Given the description of an element on the screen output the (x, y) to click on. 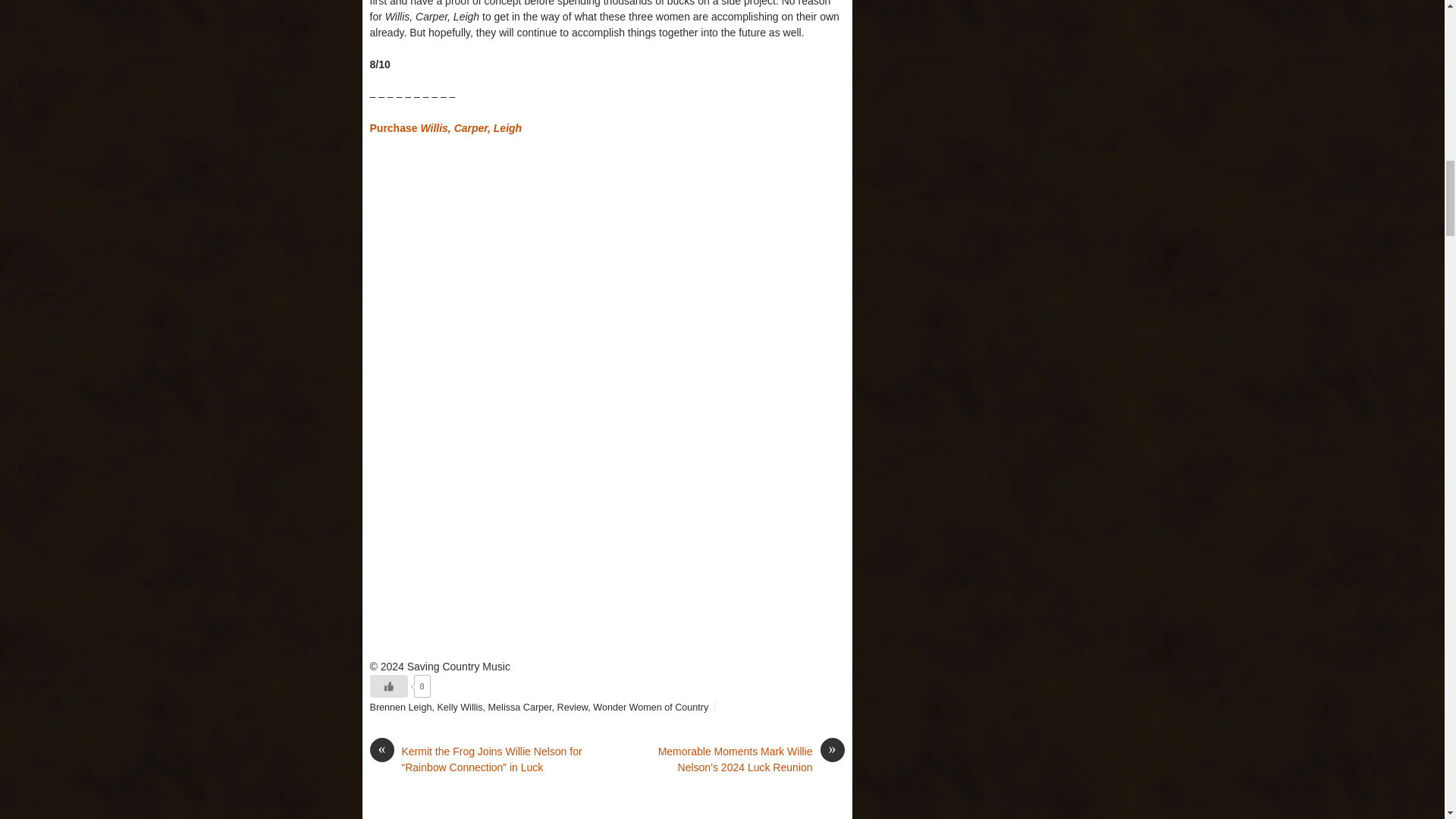
Review (572, 706)
YouTube video player (606, 529)
Melissa Carper (519, 706)
Wonder Women of Country (649, 706)
Purchase Willis, Carper, Leigh (445, 128)
YouTube video player (606, 274)
Kelly Willis (458, 706)
Brennen Leigh (400, 706)
